Given the description of an element on the screen output the (x, y) to click on. 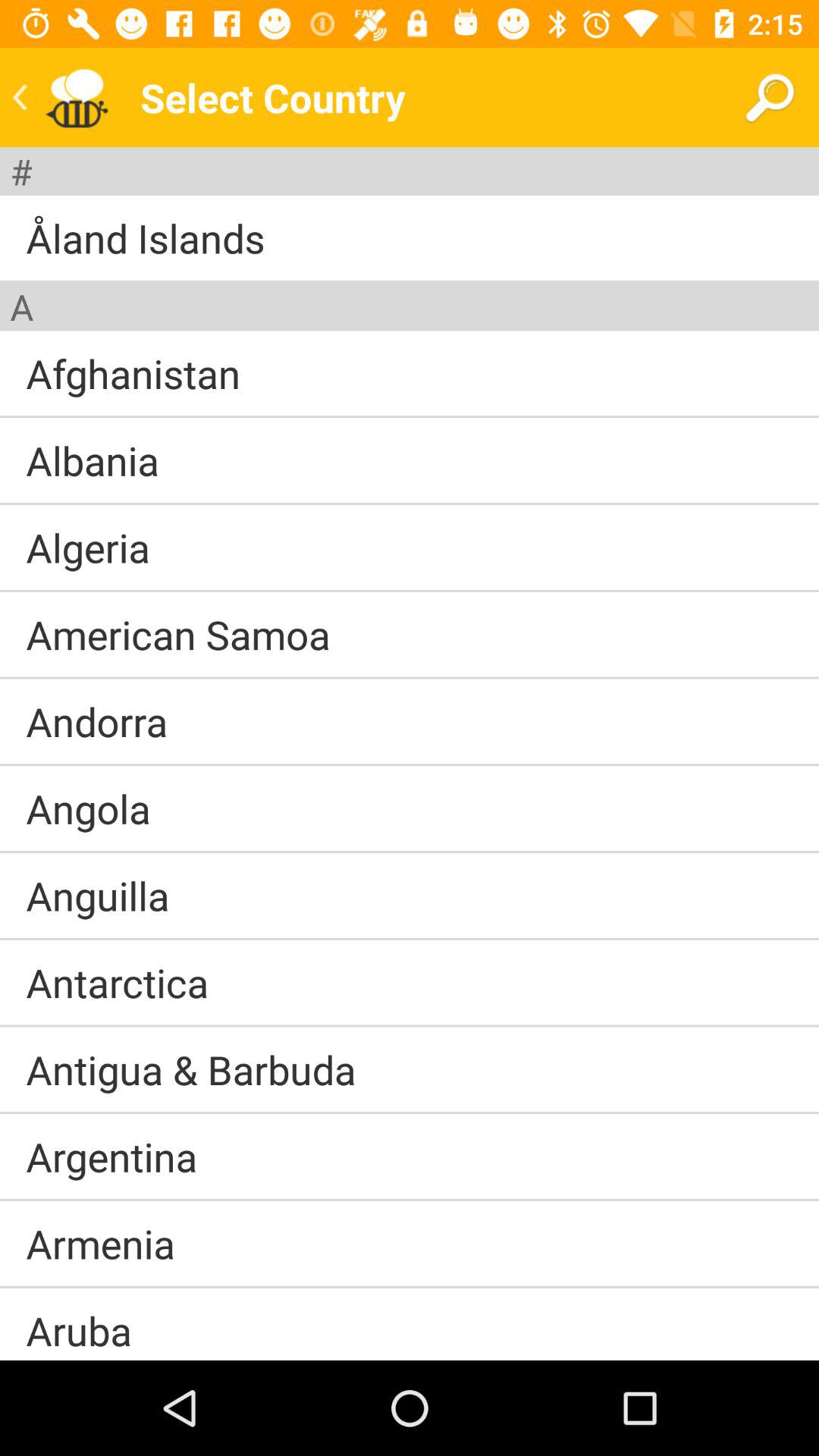
turn off the item at the top right corner (769, 97)
